Given the description of an element on the screen output the (x, y) to click on. 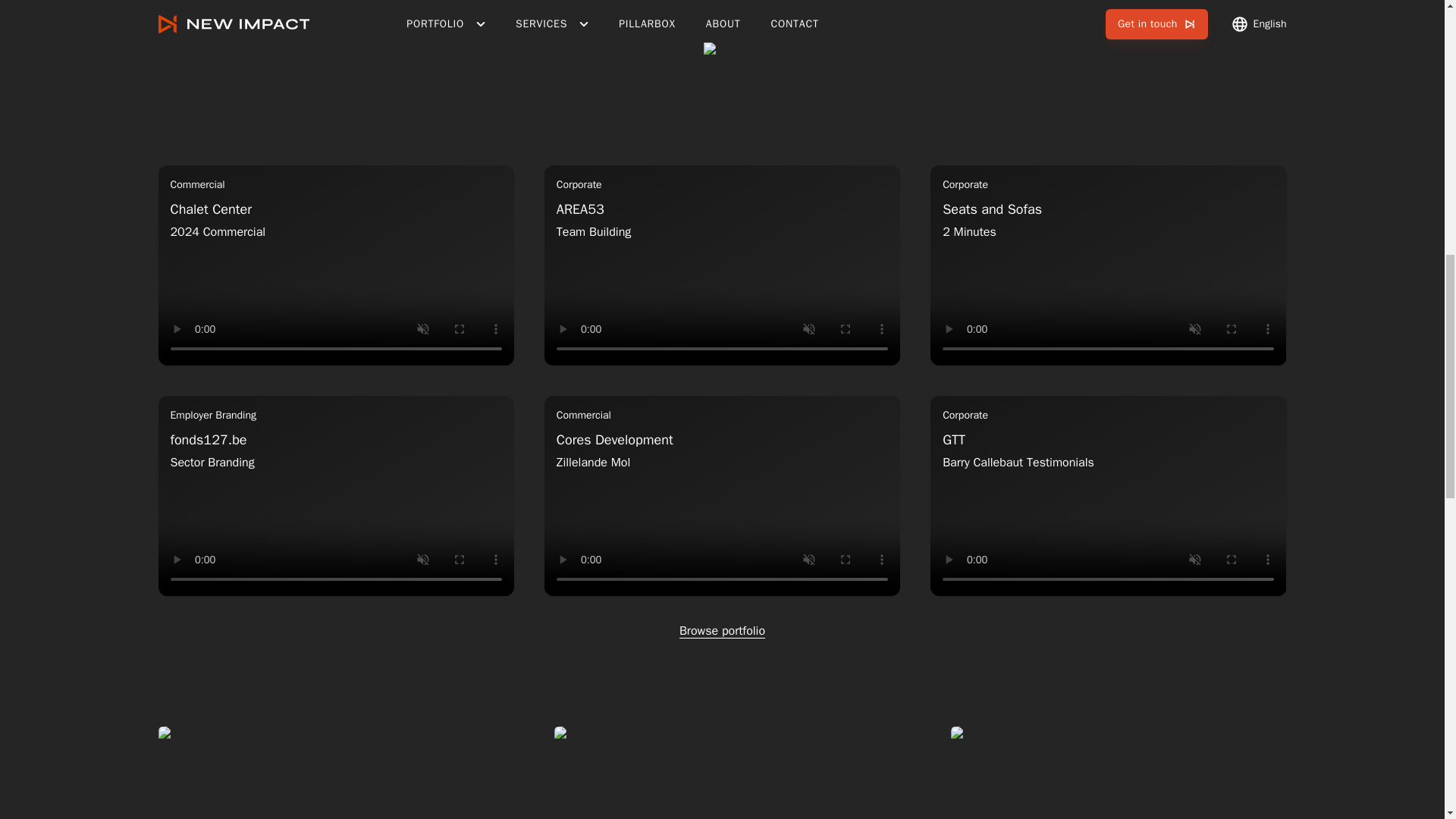
Browse portfolio (335, 495)
